Given the description of an element on the screen output the (x, y) to click on. 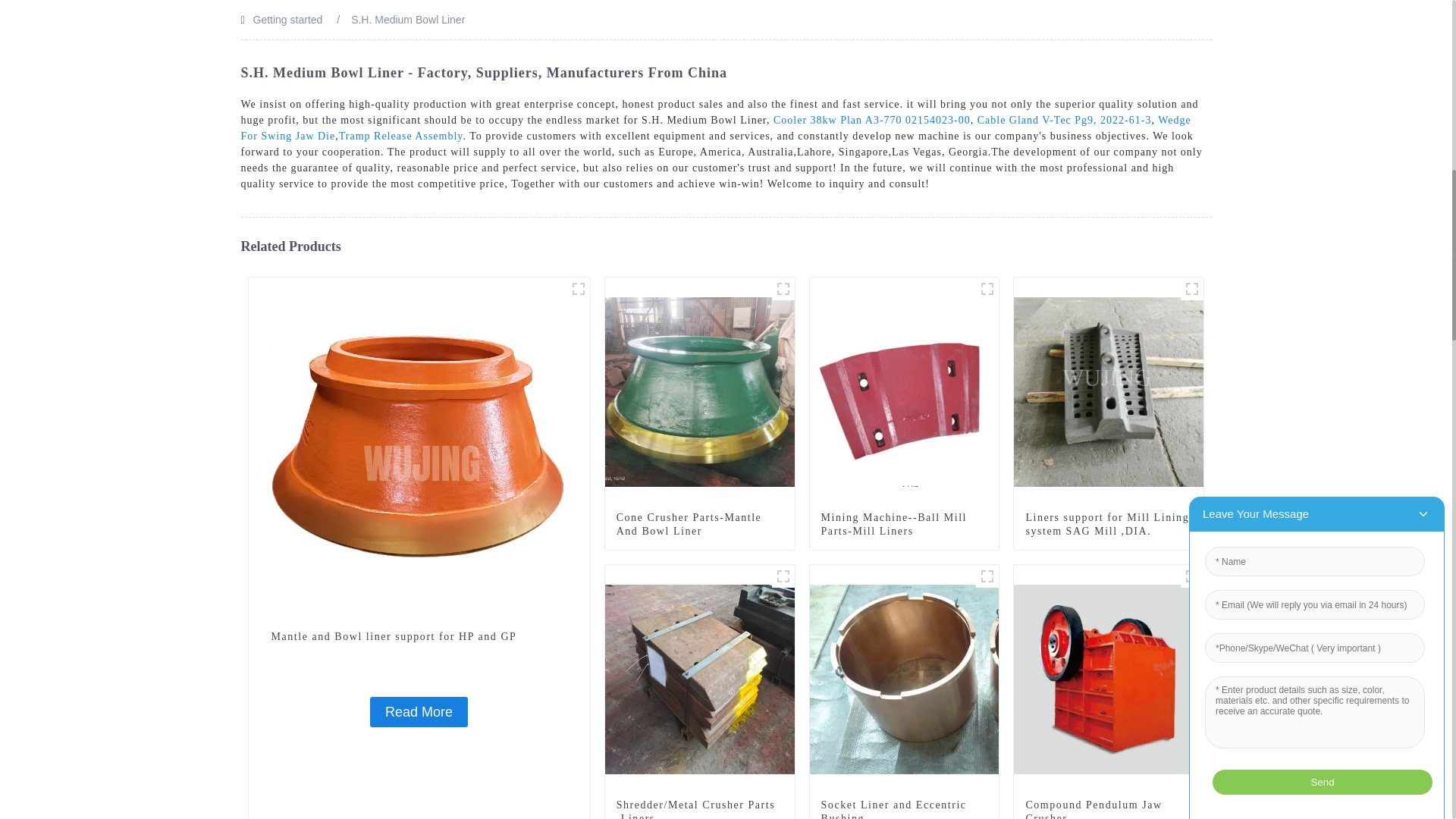
Mantle and Bowl liner support for HP and GP (418, 711)
Tramp Release Assembly (401, 135)
Wedge For Swing Jaw Die (716, 127)
Cooler 38kw Plan A3-770 02154023-00 (872, 120)
Cone-Crusher-Parts-Mantle-And-Bowl-Liner (782, 288)
Mining Machine--Ball Mill Parts-Mill Liners (903, 390)
Cooler 38kw Plan A3-770 02154023-00 (872, 120)
Mantle and Bowl liner support for HP and GP (418, 447)
fsf1 (578, 288)
S.H. Medium Bowl Liner (407, 19)
Cable Gland V-Tec Pg9, 2022-61-3 (1063, 120)
1 (1192, 288)
Mining Machine--Ball Mill Parts-Mill Liners (904, 524)
Tramp Release Assembly (401, 135)
